Given the description of an element on the screen output the (x, y) to click on. 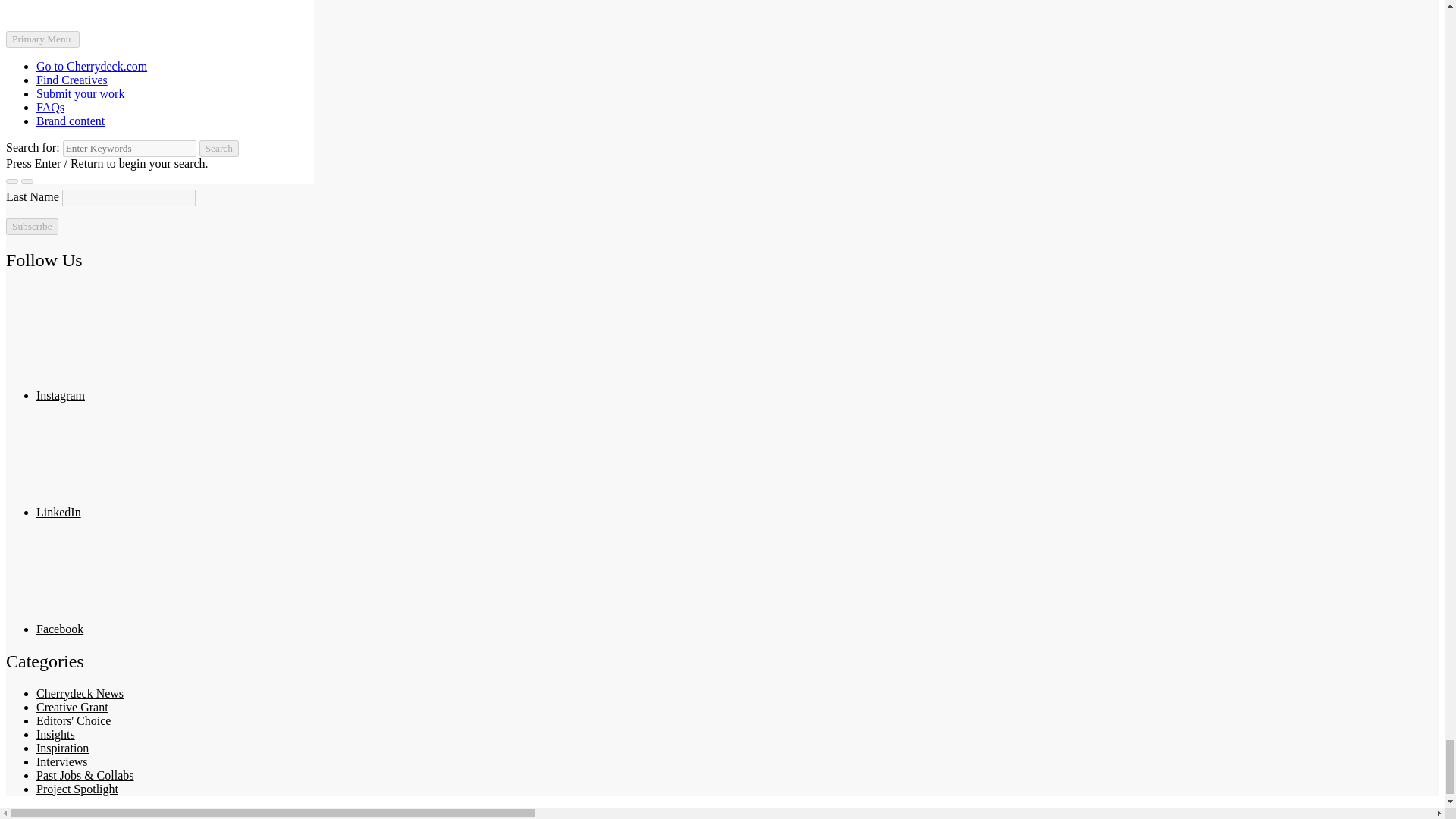
Subscribe (31, 226)
